Given the description of an element on the screen output the (x, y) to click on. 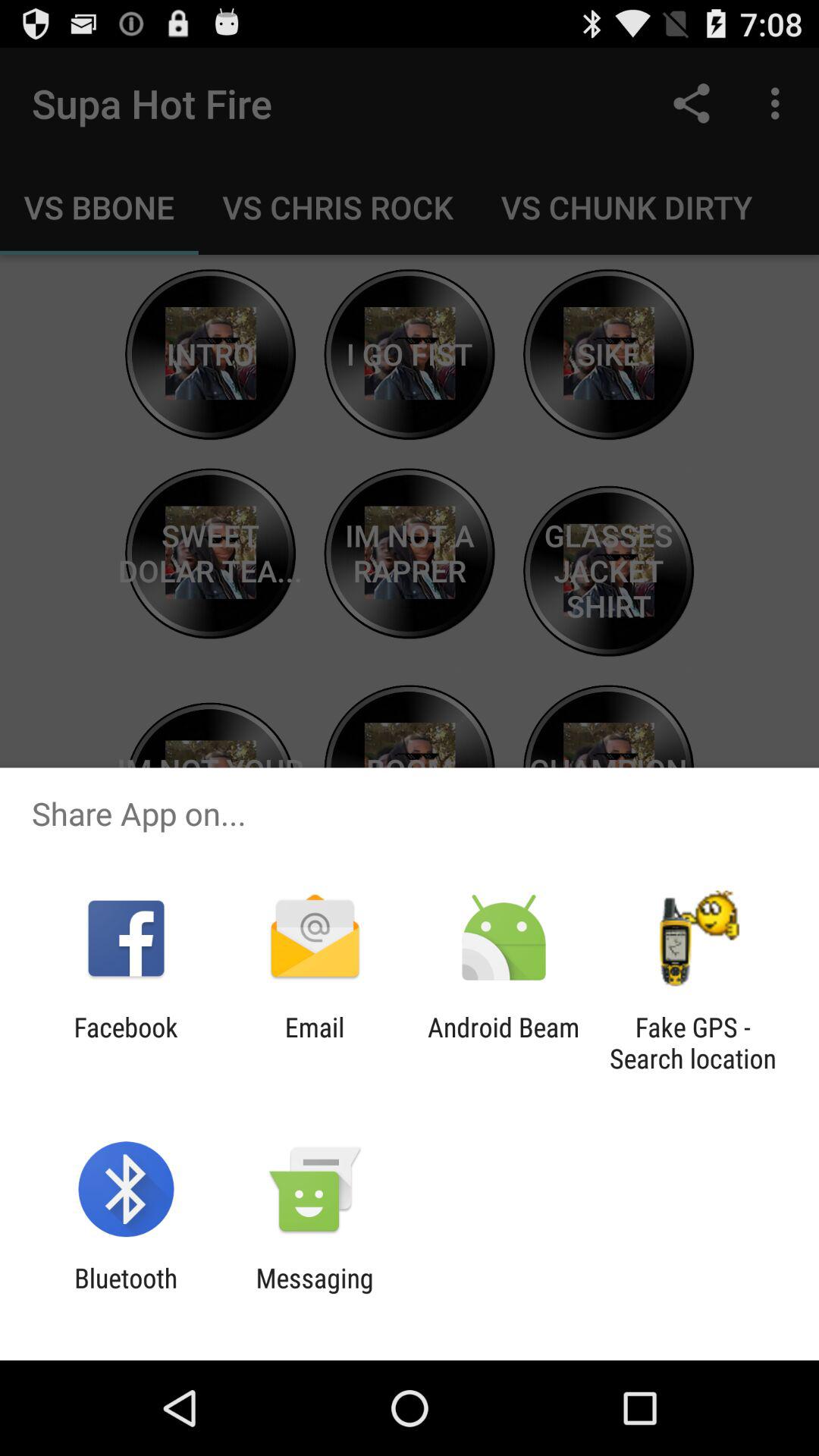
launch facebook app (125, 1042)
